Given the description of an element on the screen output the (x, y) to click on. 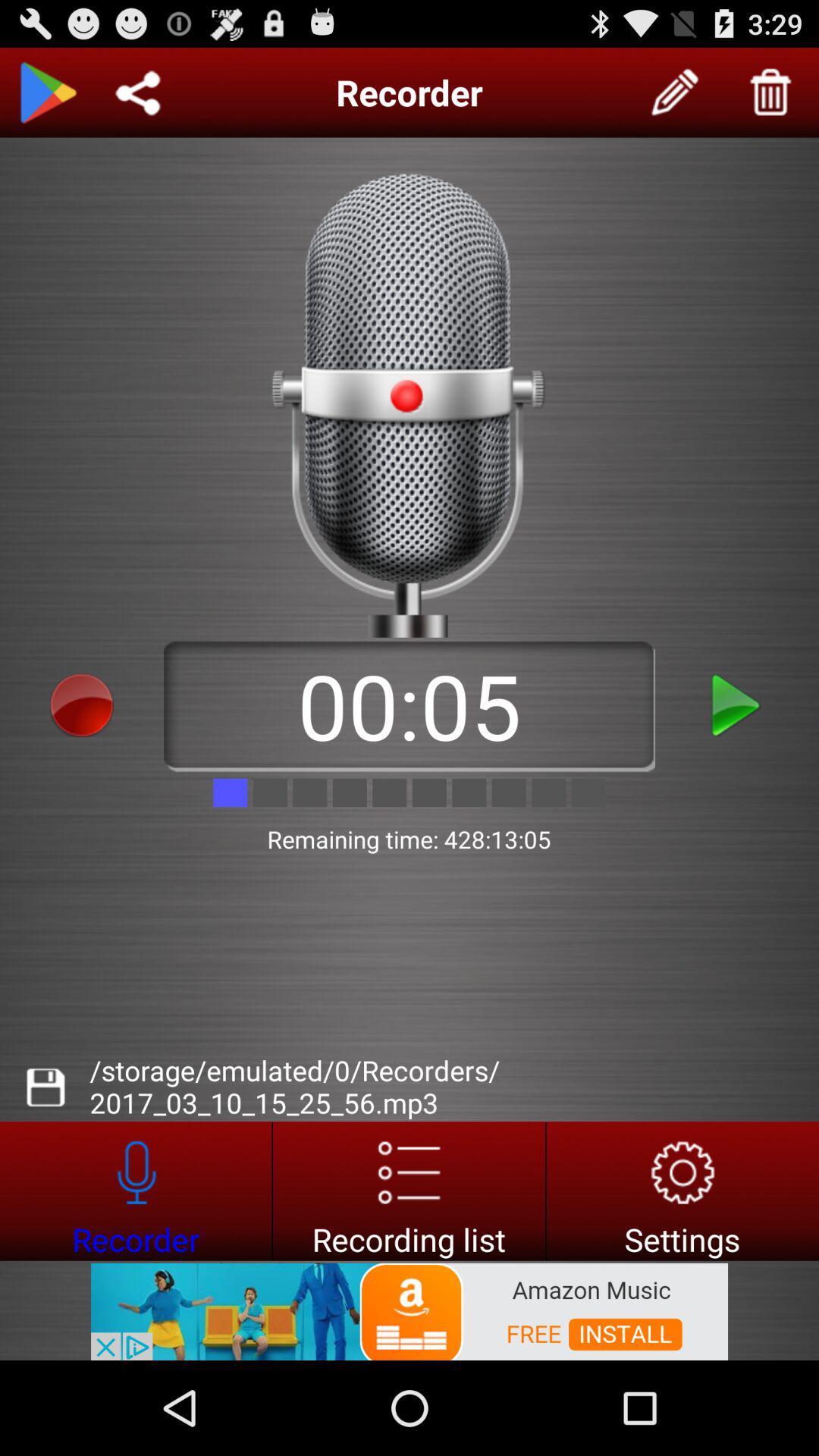
edit (675, 92)
